Given the description of an element on the screen output the (x, y) to click on. 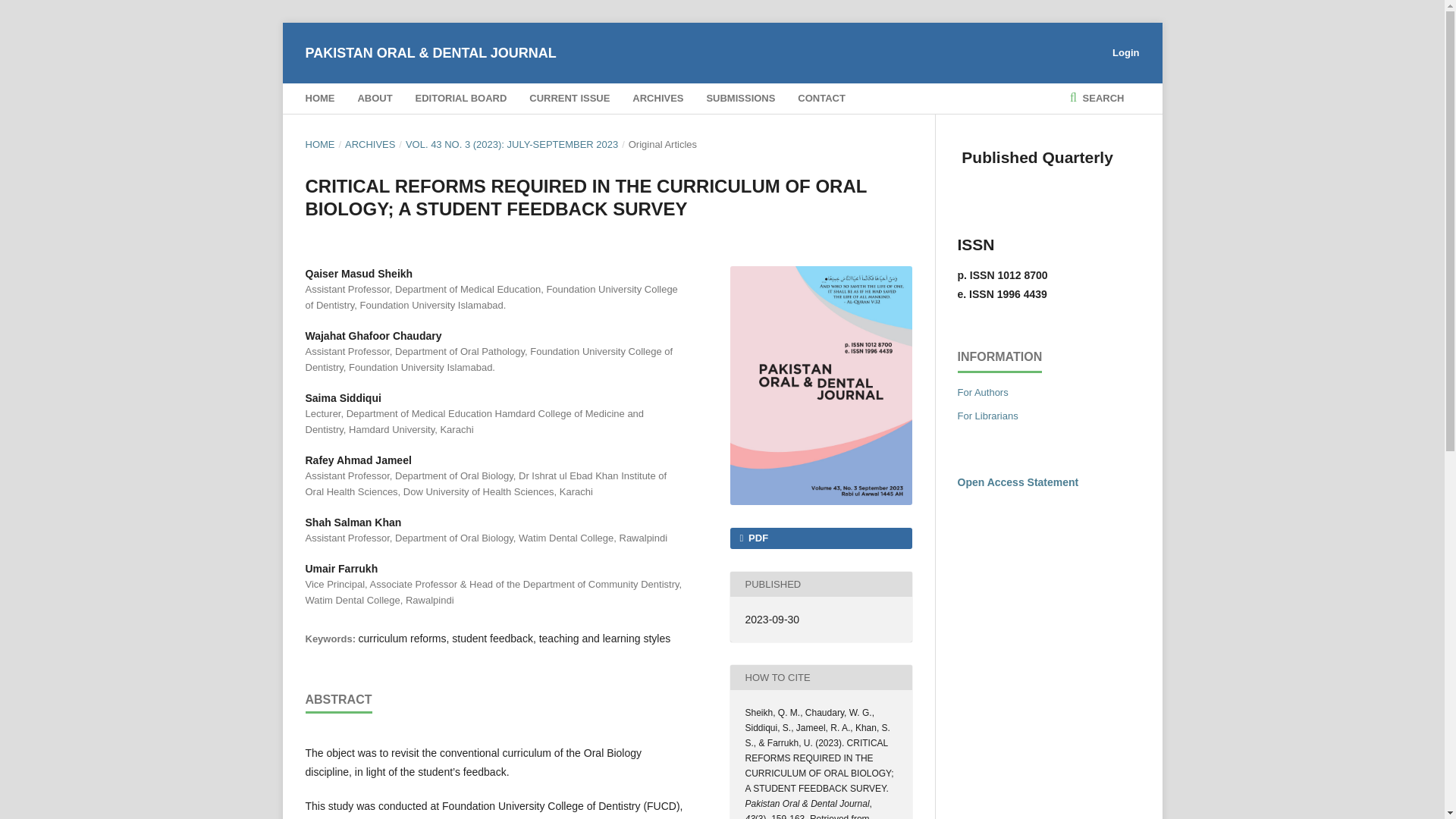
CONTACT (821, 98)
ABOUT (373, 98)
ARCHIVES (369, 144)
SUBMISSIONS (740, 98)
ARCHIVES (656, 98)
Login (1121, 52)
PDF (820, 537)
HOME (319, 98)
EDITORIAL BOARD (460, 98)
For Authors (981, 392)
